Given the description of an element on the screen output the (x, y) to click on. 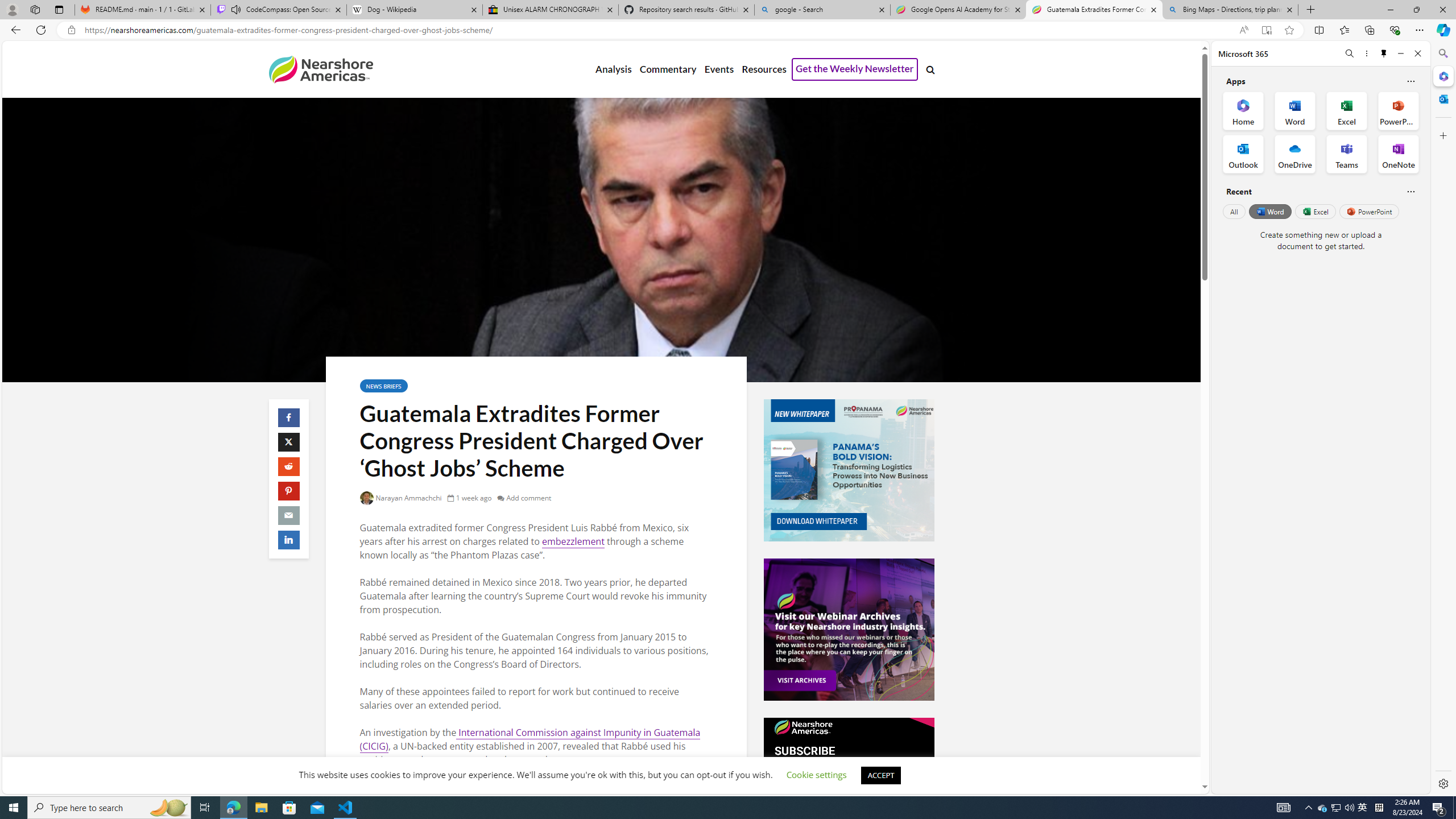
Google Opens AI Academy for Startups - Nearshore Americas (957, 9)
Events-Banner-Ad.jpg (848, 629)
Events (718, 69)
PowerPoint Office App (1398, 110)
Get the Weekly Newsletter (854, 69)
